Given the description of an element on the screen output the (x, y) to click on. 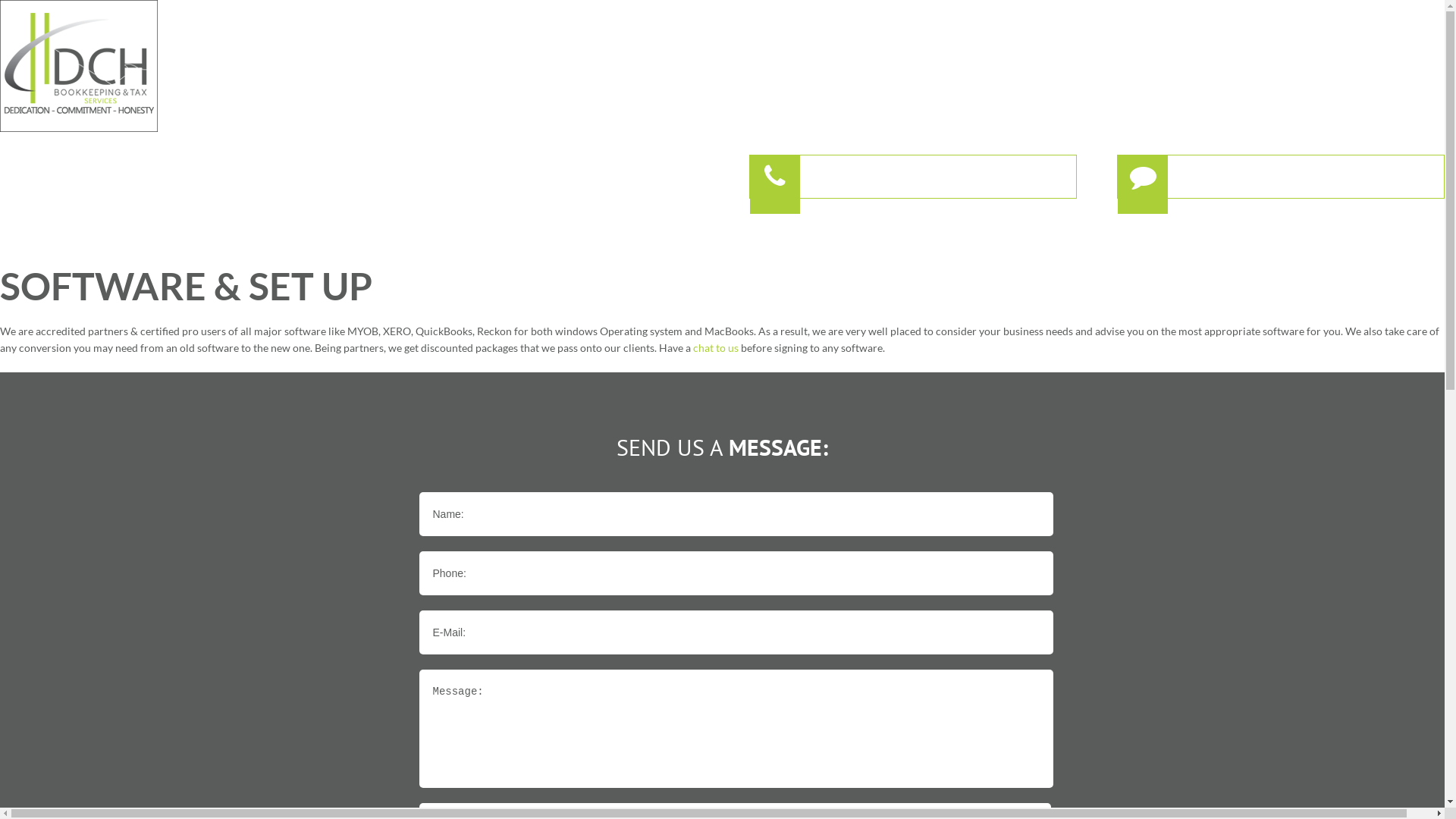
chat to us Element type: text (715, 347)
LEAVE US A MESSAGE Element type: text (1280, 176)
PRICES Element type: text (1289, 242)
CONTACT US Element type: text (1410, 242)
ABOUT US Element type: text (1053, 242)
CALL US 03 8769 5617 Element type: text (912, 176)
HOME Element type: text (942, 242)
SERVICES Element type: text (1174, 242)
Logo Element type: hover (78, 65)
